Given the description of an element on the screen output the (x, y) to click on. 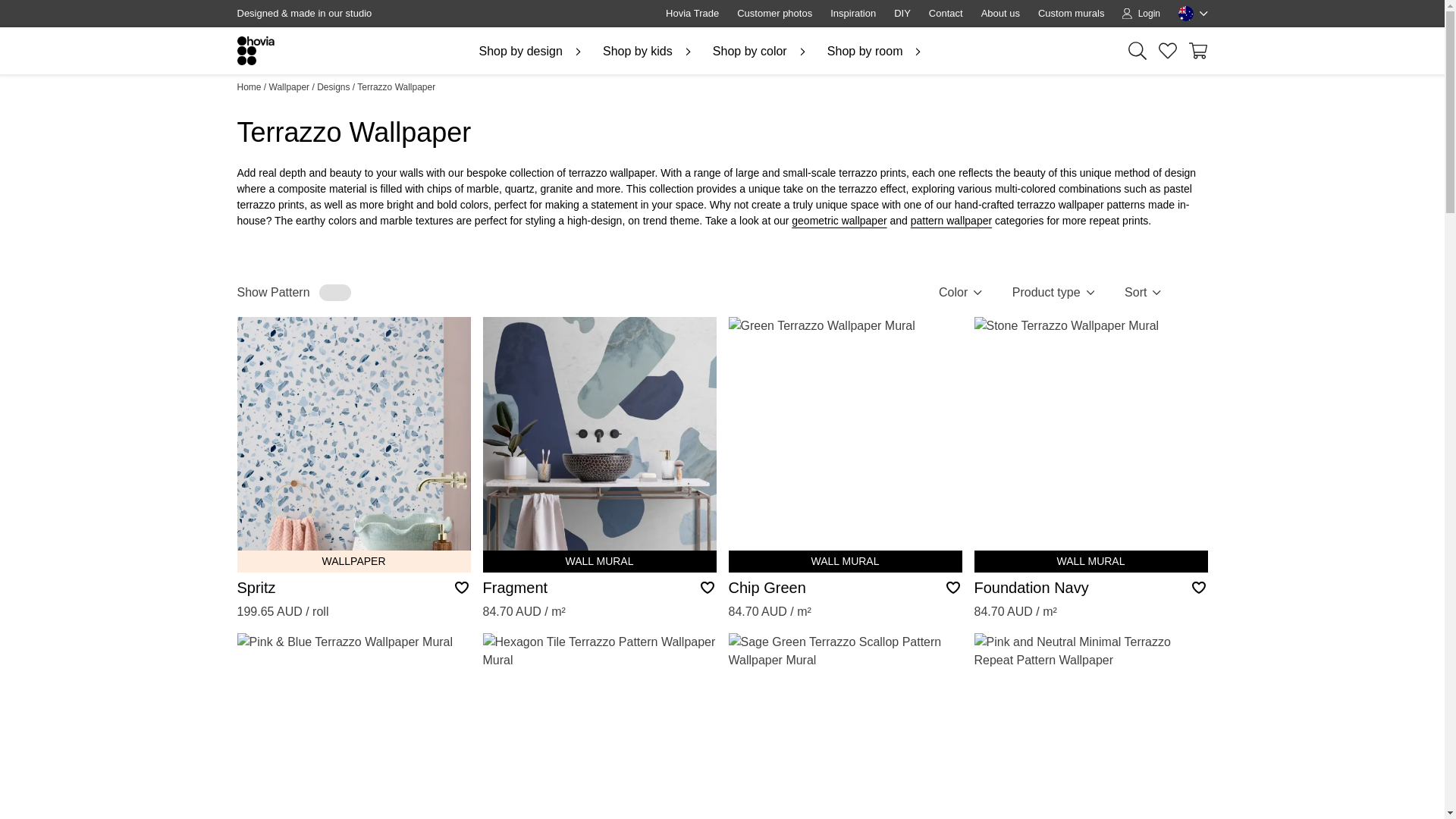
Customer photos (774, 13)
Custom murals (1071, 13)
Hovia Trade (692, 13)
Contact (946, 13)
Login (1141, 13)
Inspiration (853, 13)
DIY (902, 13)
About us (1000, 13)
Shop by design (532, 52)
